Given the description of an element on the screen output the (x, y) to click on. 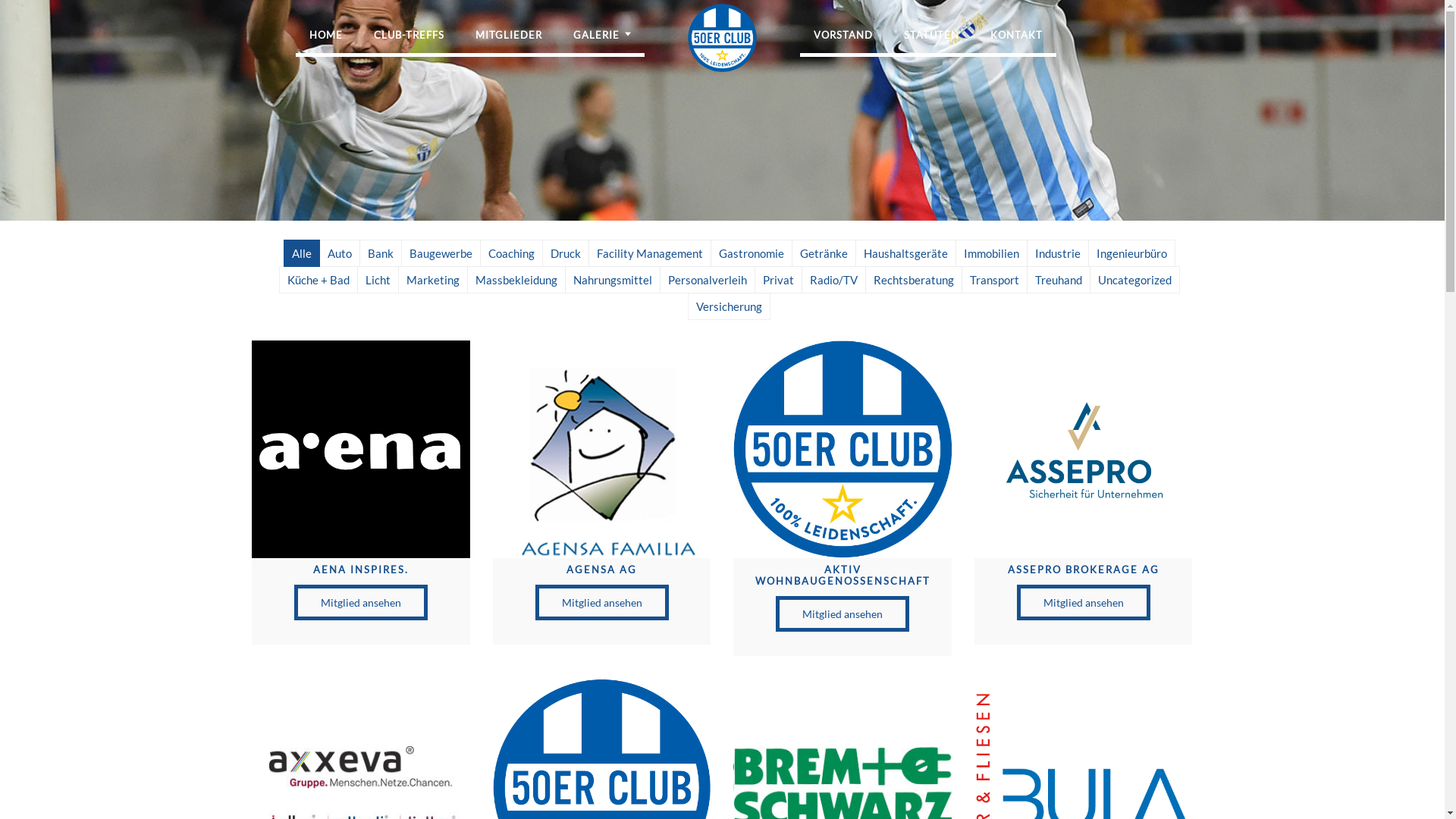
Mitglied ansehen Element type: text (360, 602)
aena inspires. Element type: hover (360, 448)
VORSTAND Element type: text (842, 34)
Mitglied ansehen Element type: text (842, 613)
GALERIE Element type: text (596, 34)
Aktiv Wohnbaugenossenschaft Element type: hover (841, 448)
ASSEPRO Brokerage AG Element type: hover (1083, 448)
CLUB-TREFFS Element type: text (408, 34)
MITGLIEDER Element type: text (508, 34)
KONTAKT Element type: text (1016, 34)
Mitglied ansehen Element type: text (1083, 602)
AGENSA AG Element type: hover (601, 448)
Mitglied ansehen Element type: text (601, 602)
HOME Element type: text (325, 34)
STATUTEN Element type: text (931, 34)
